Given the description of an element on the screen output the (x, y) to click on. 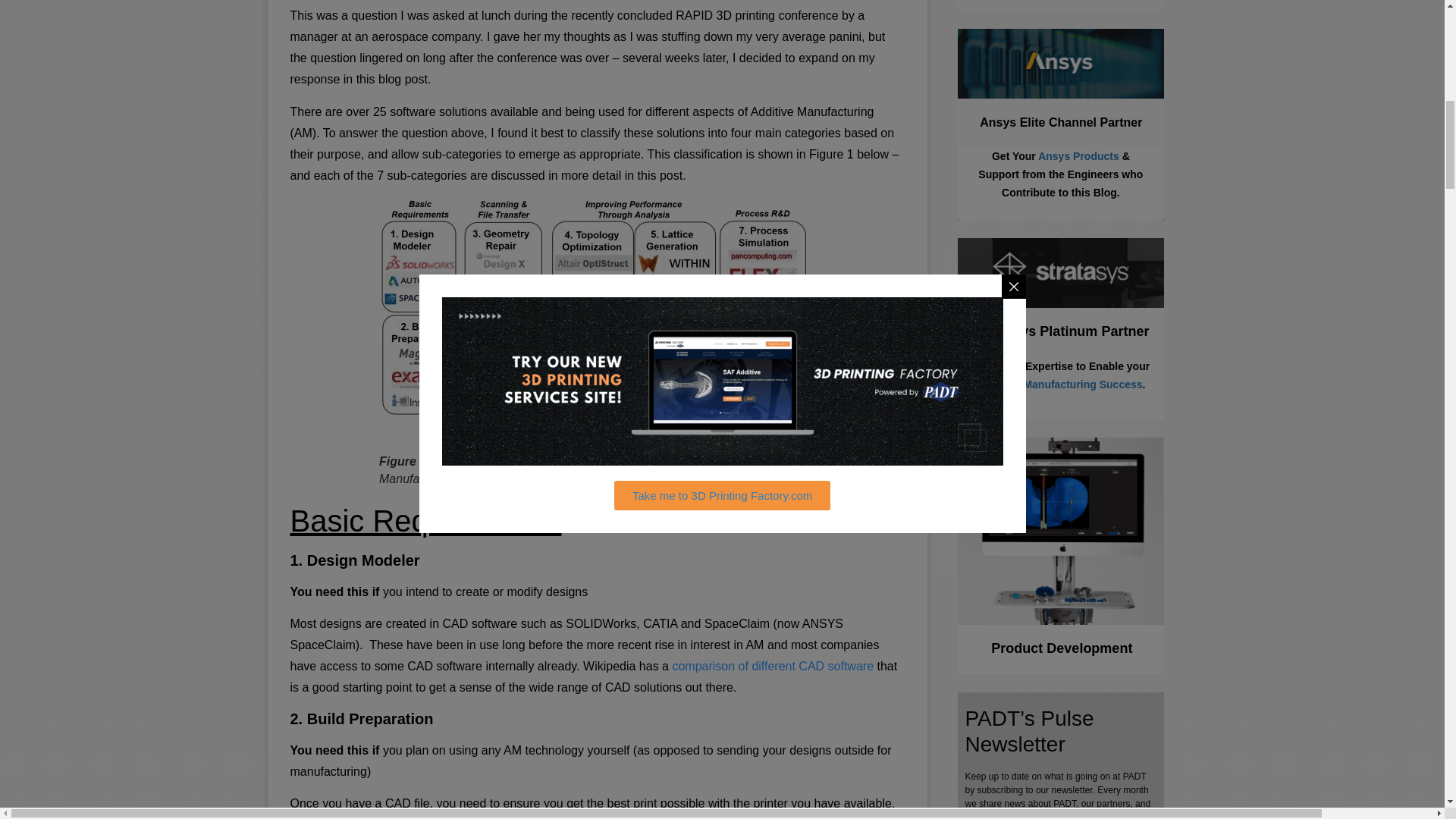
The Additive Manufacturing Software Conundrum 1 (596, 325)
